Given the description of an element on the screen output the (x, y) to click on. 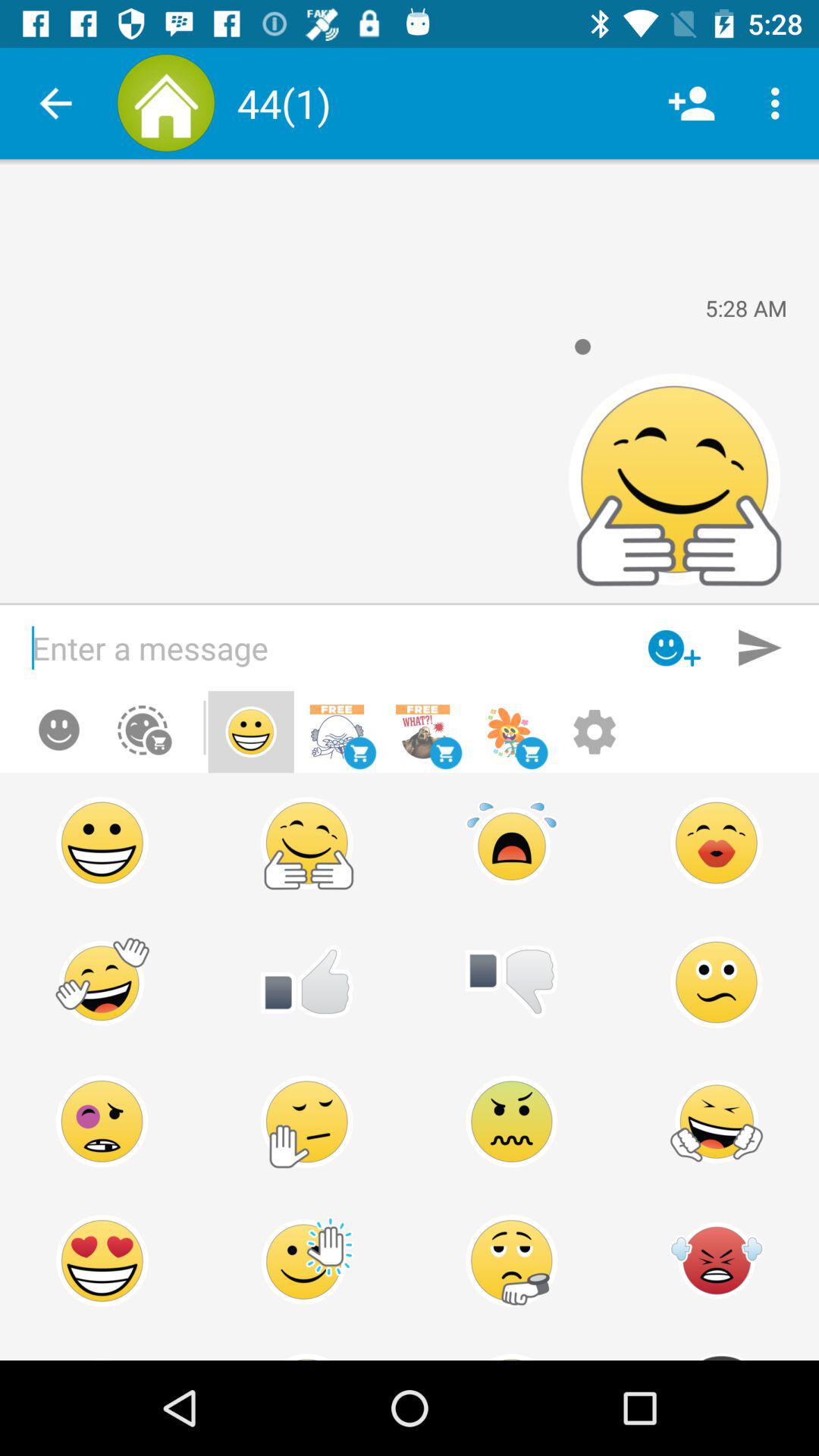
select the item next to the (1) (691, 103)
